Given the description of an element on the screen output the (x, y) to click on. 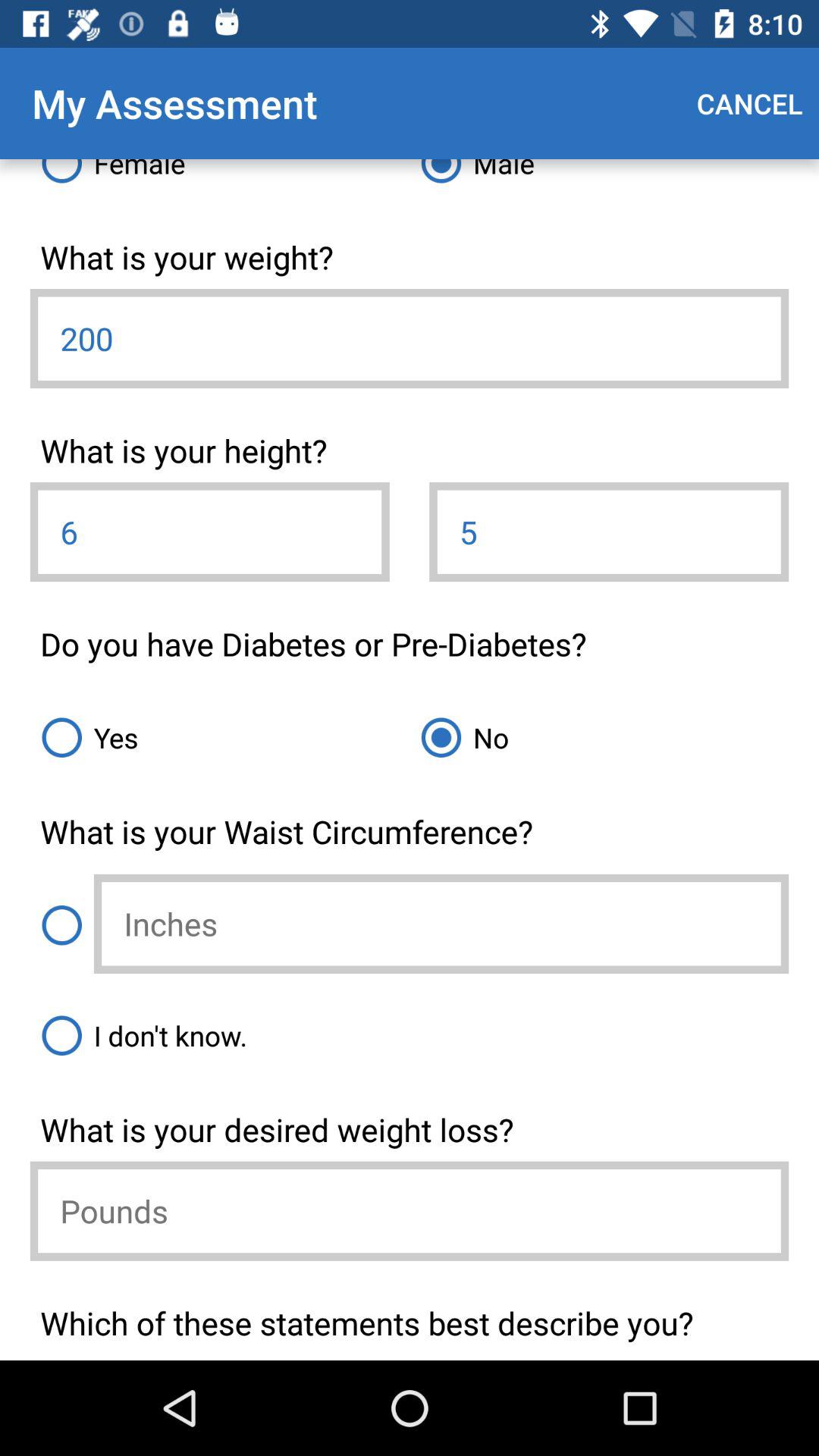
flip until female (219, 177)
